Given the description of an element on the screen output the (x, y) to click on. 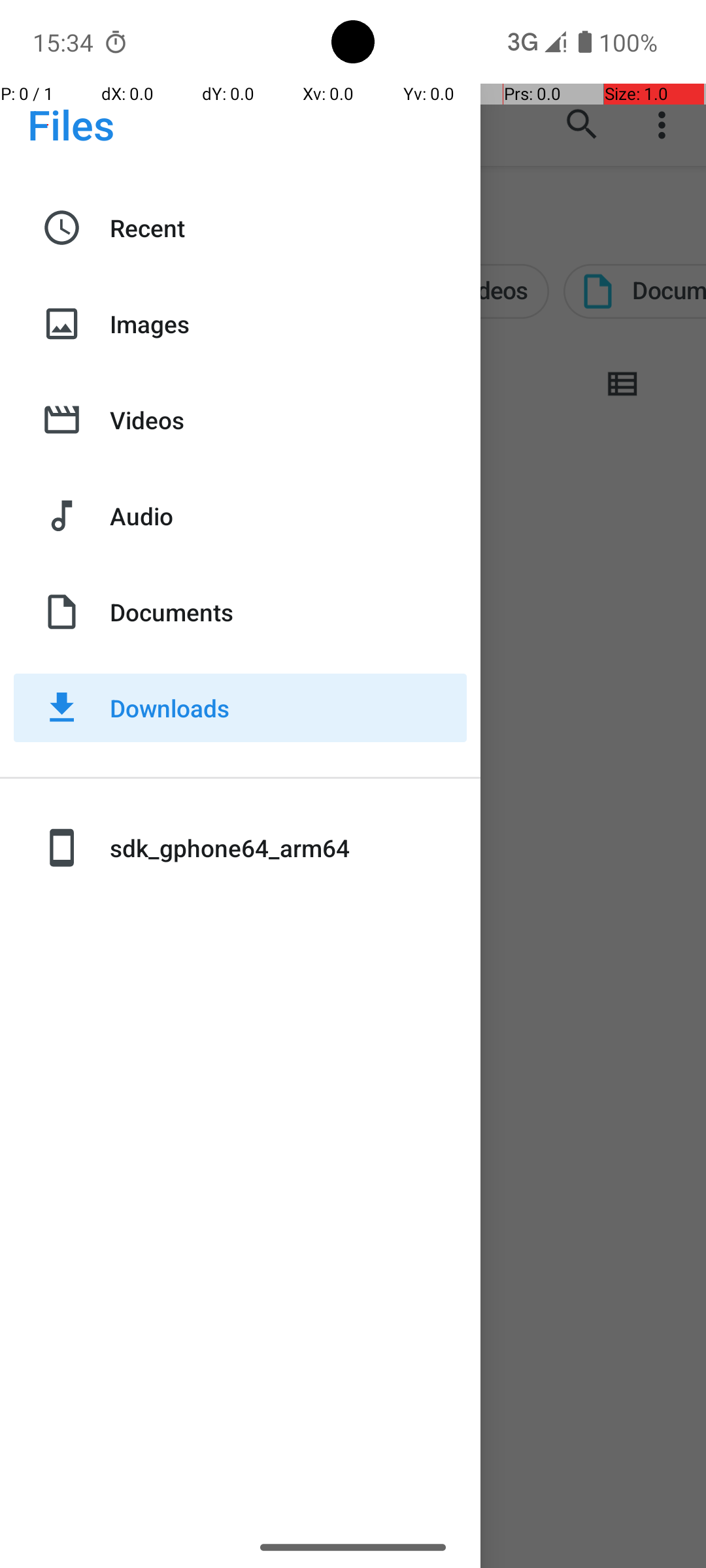
Files Element type: android.widget.TextView (70, 124)
sdk_gphone64_arm64 Element type: android.widget.TextView (287, 847)
